Given the description of an element on the screen output the (x, y) to click on. 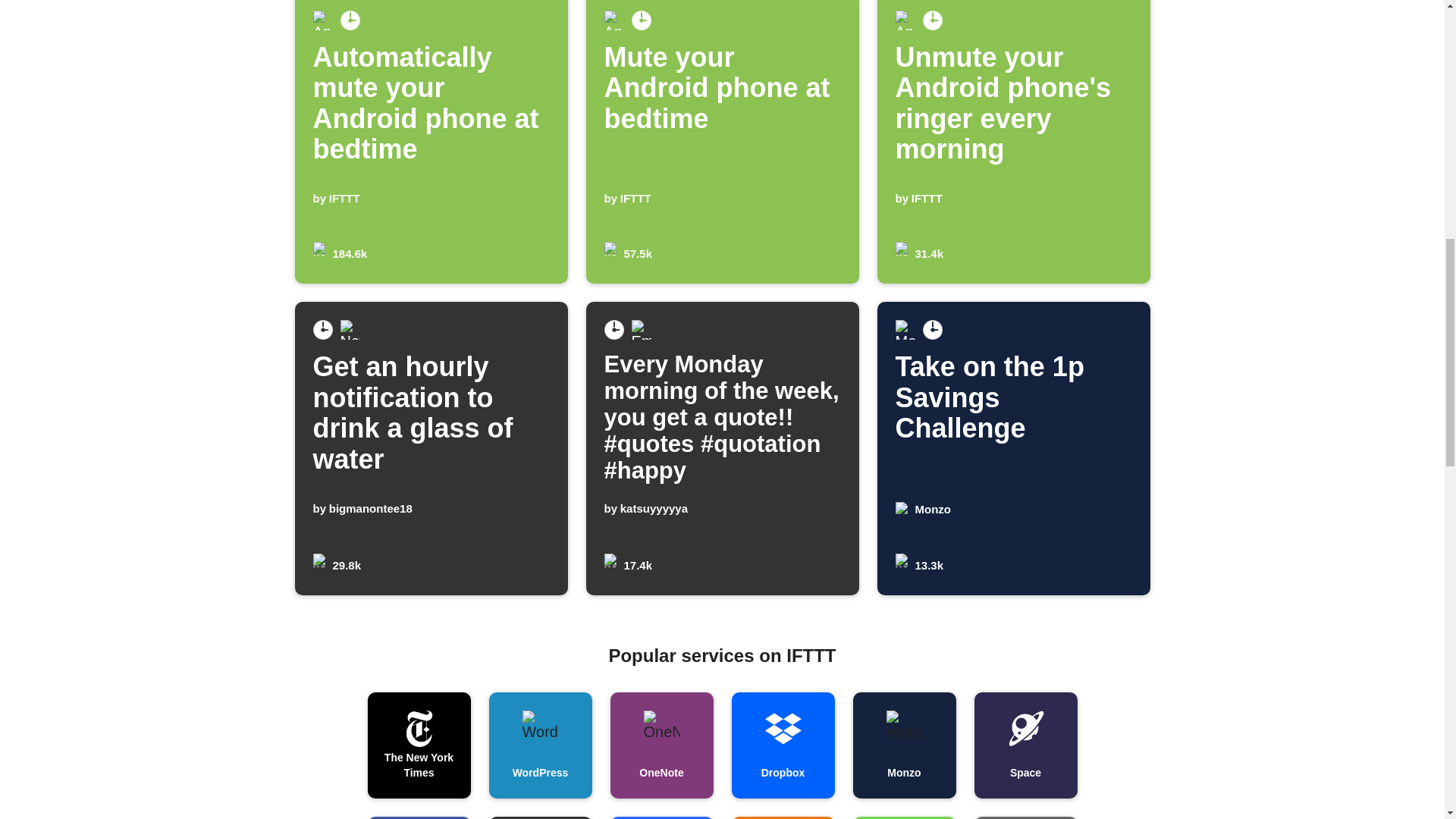
Space (1013, 448)
Facebook (1025, 745)
Dropbox (418, 817)
The New York Times (782, 745)
WordPress (722, 142)
Monzo (418, 745)
OneNote (539, 745)
